Given the description of an element on the screen output the (x, y) to click on. 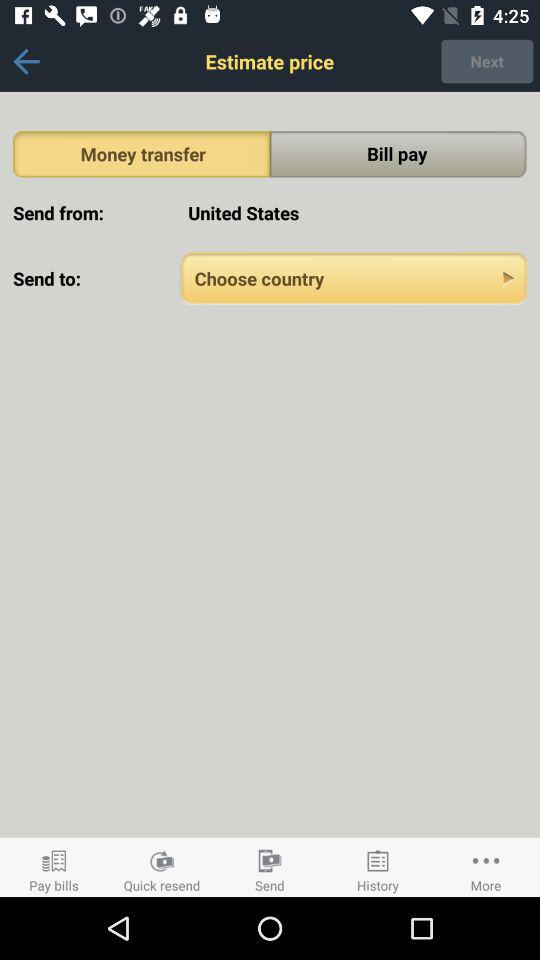
click icon next to the bill pay icon (141, 154)
